Given the description of an element on the screen output the (x, y) to click on. 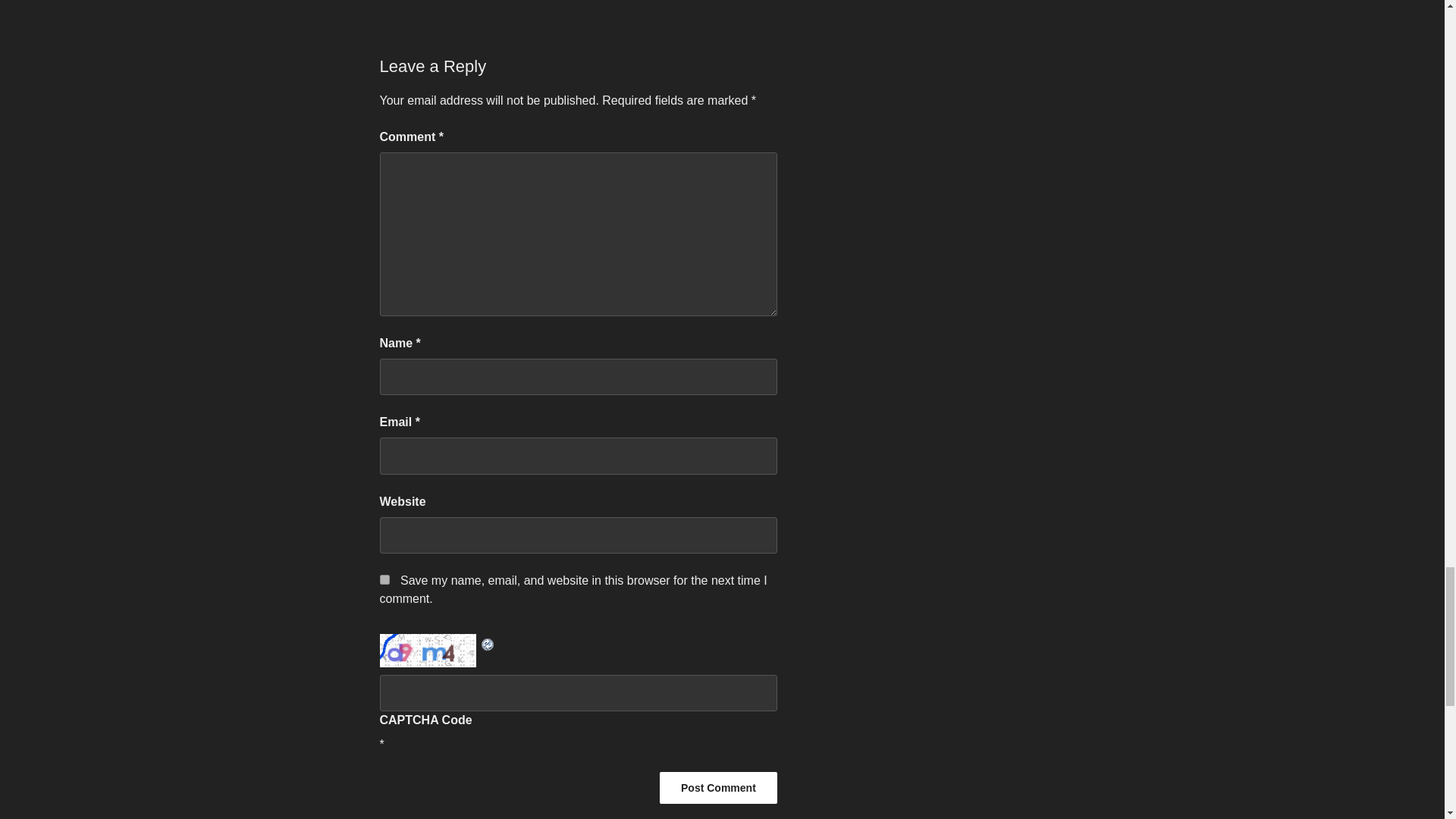
Post Comment (718, 787)
CAPTCHA (428, 649)
Refresh (487, 642)
yes (383, 579)
Post Comment (718, 787)
